Given the description of an element on the screen output the (x, y) to click on. 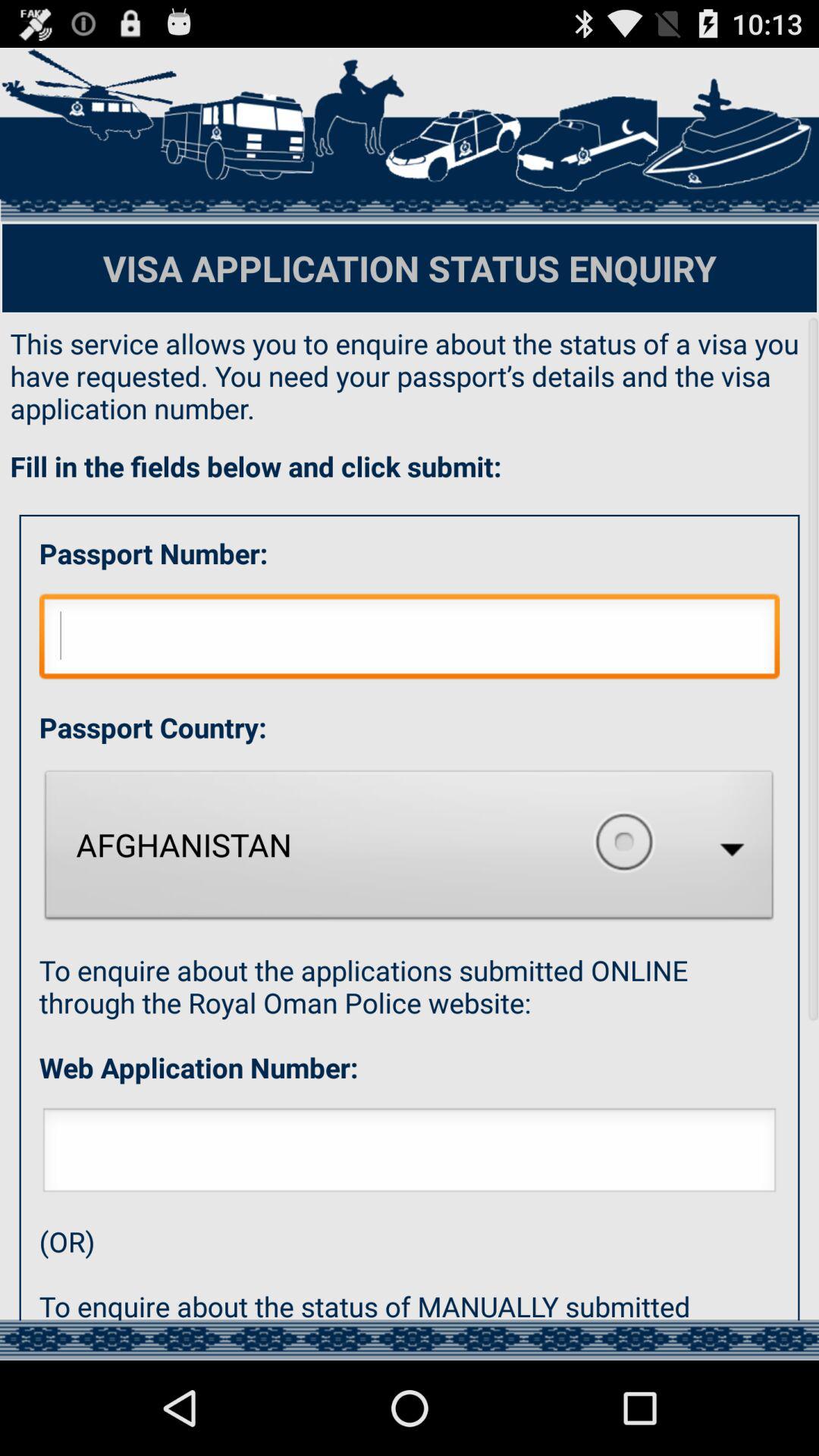
type web application number (409, 1154)
